Given the description of an element on the screen output the (x, y) to click on. 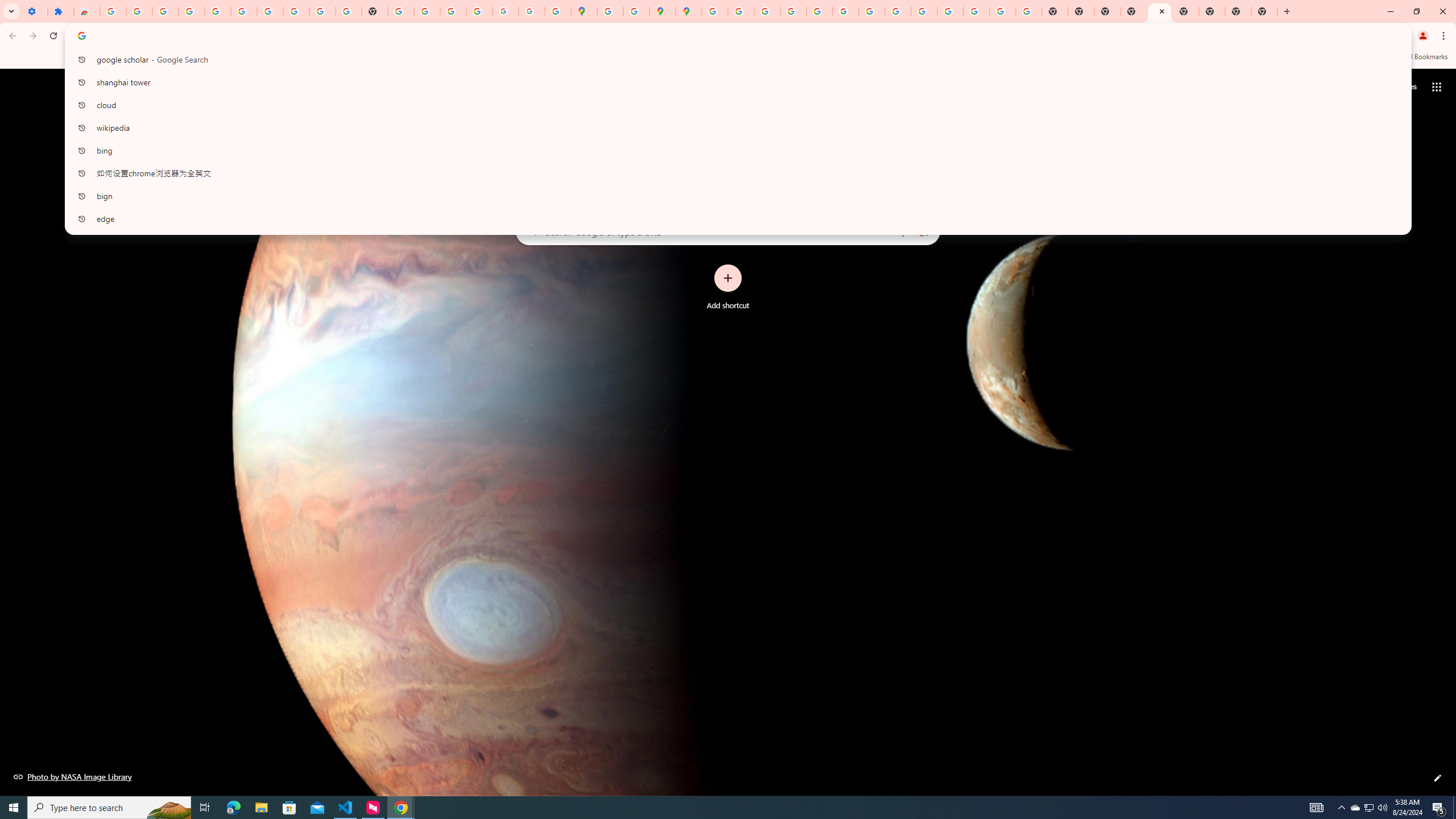
Privacy Help Center - Policies Help (792, 11)
Sign in - Google Accounts (243, 11)
Google Account (296, 11)
bign search from history (733, 196)
wikipedia search from history (733, 127)
